Given the description of an element on the screen output the (x, y) to click on. 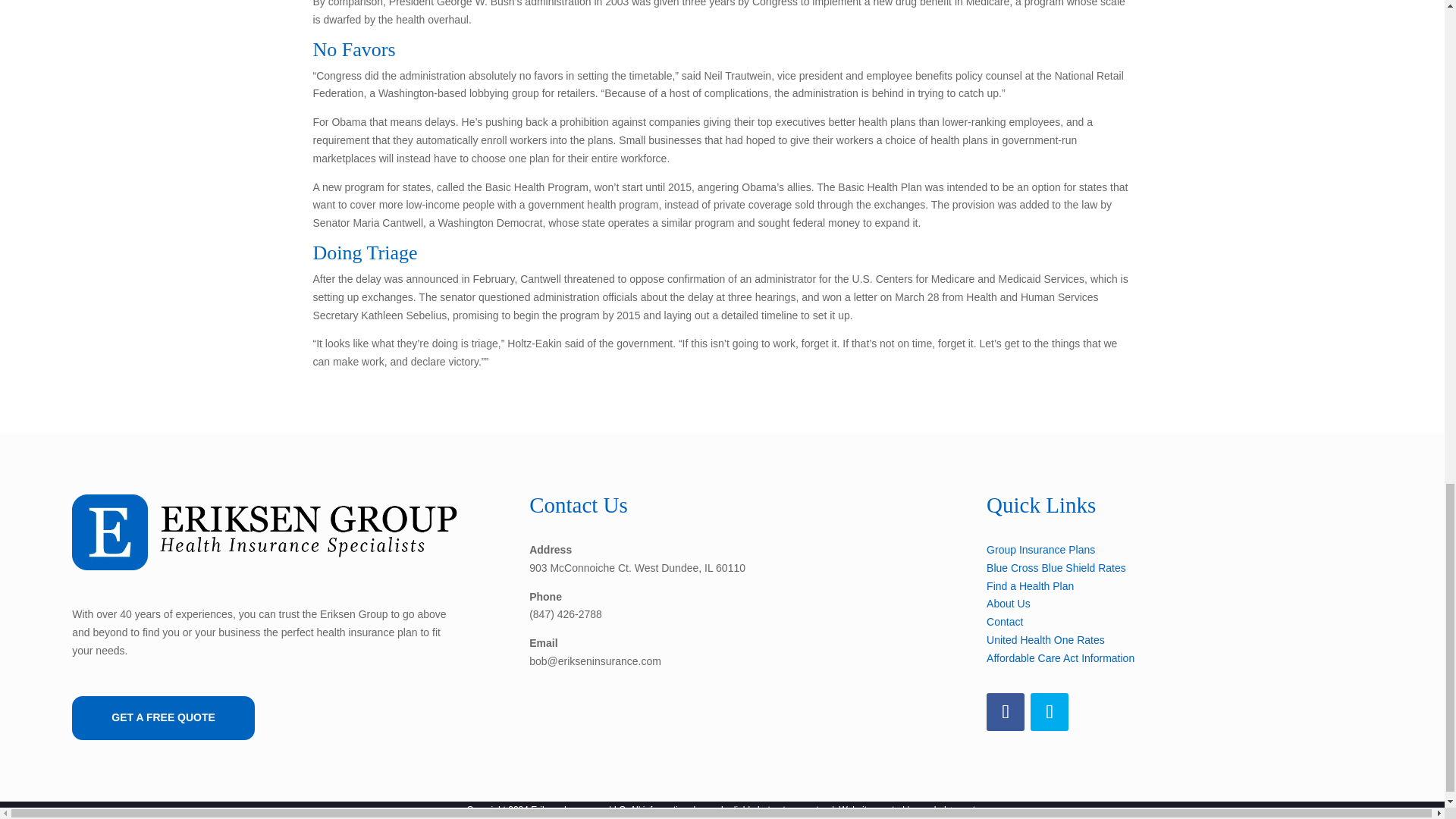
Follow on Twitter (1049, 711)
Follow on Facebook (1006, 711)
e-logo-b (264, 532)
